Given the description of an element on the screen output the (x, y) to click on. 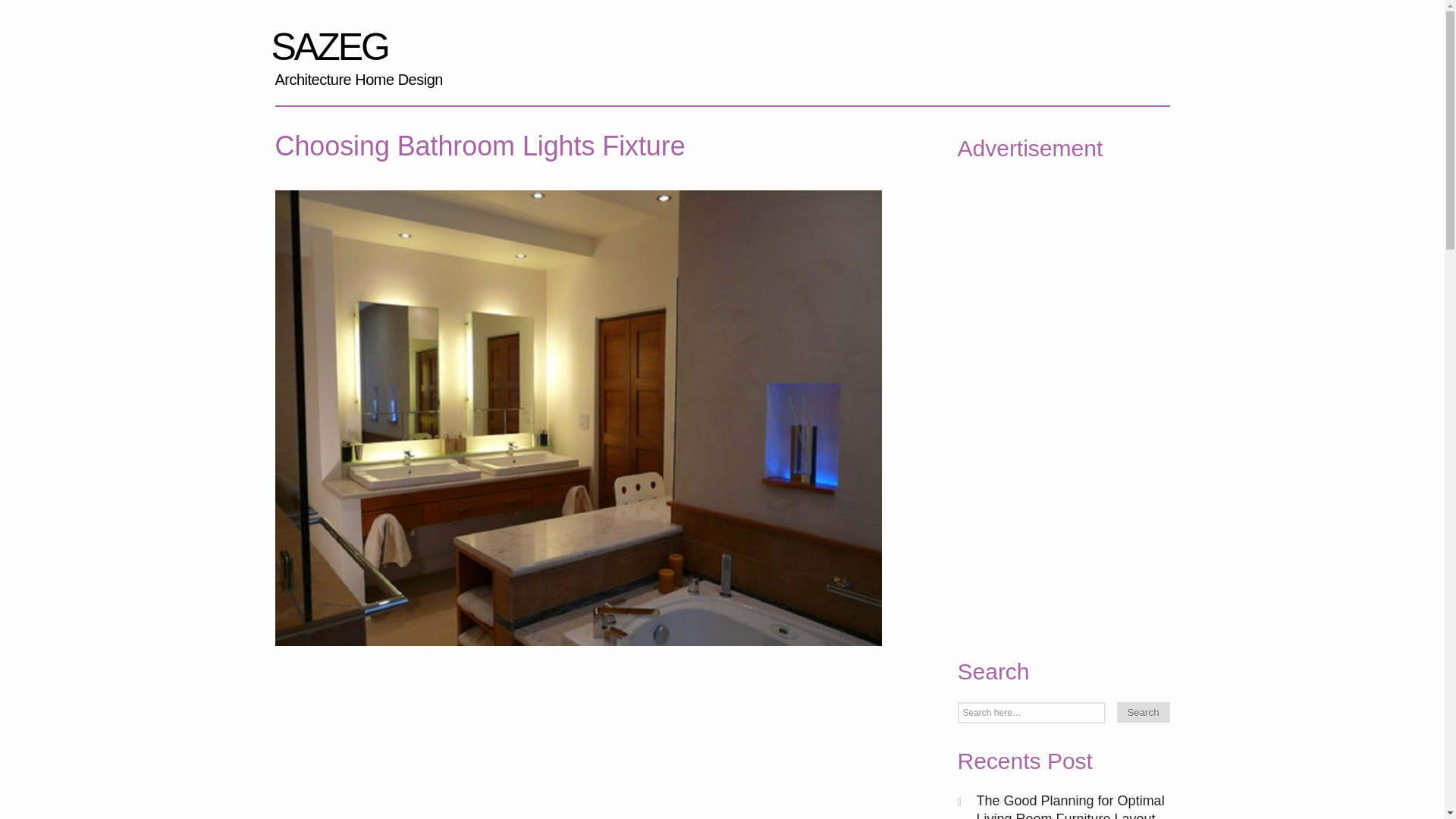
The Good Planning for Optimal Living Room Furniture Layout (354, 52)
Search (1070, 806)
Search (1142, 711)
